Given the description of an element on the screen output the (x, y) to click on. 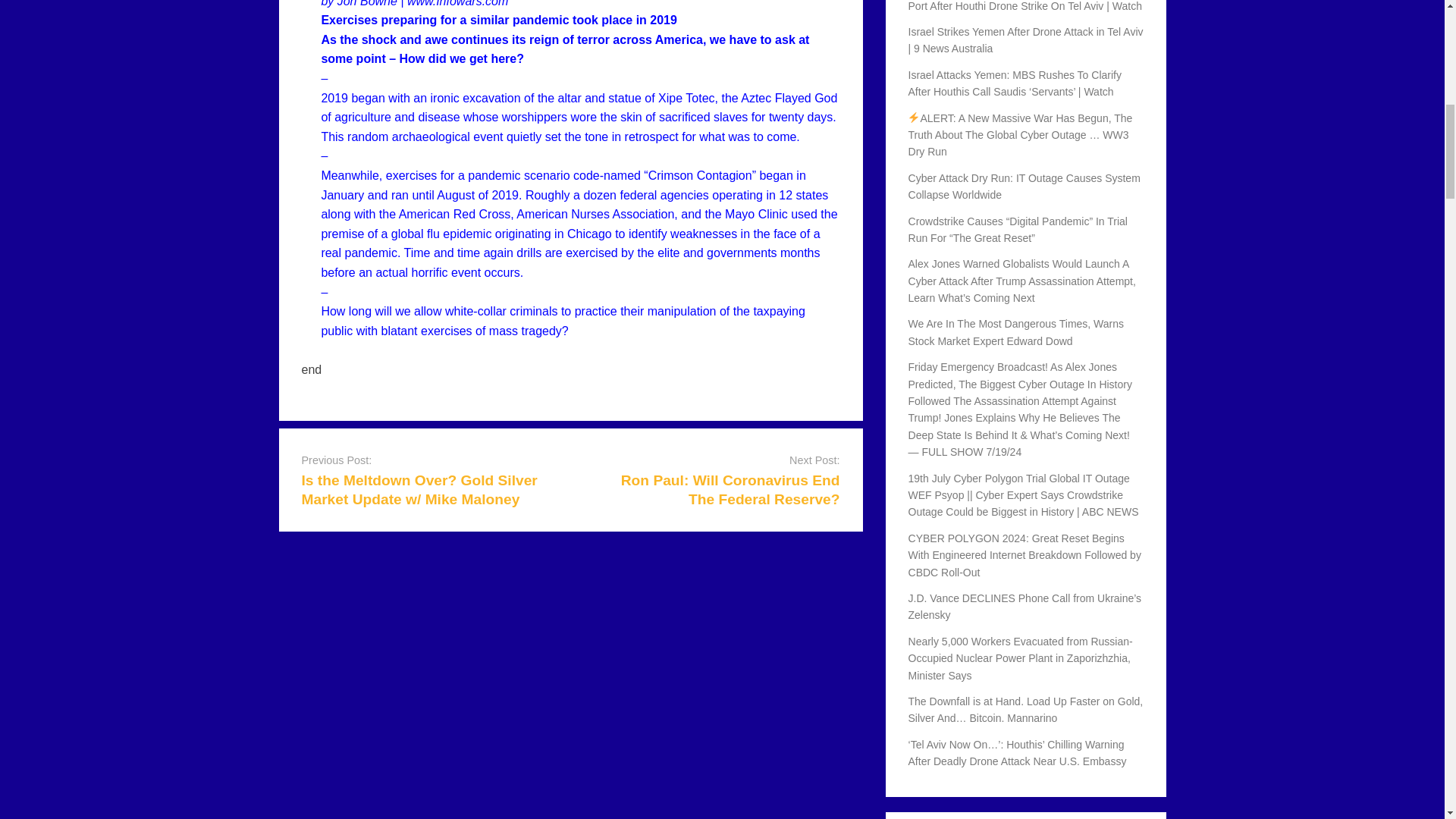
Posts by Jon Bowne (367, 3)
Jon Bowne (367, 3)
Ron Paul: Will Coronavirus End The Federal Reserve? (730, 489)
